Given the description of an element on the screen output the (x, y) to click on. 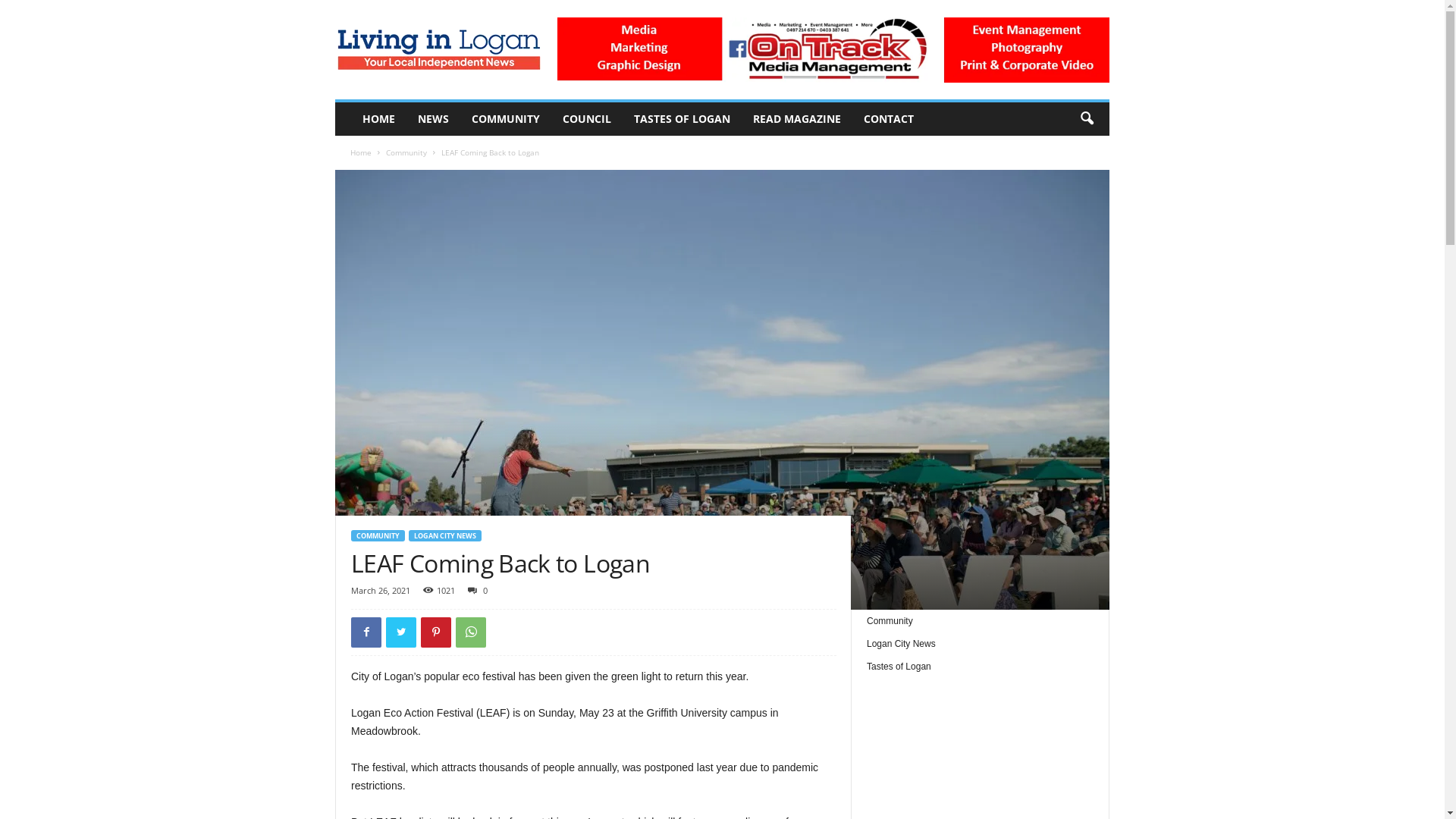
Tastes of Logan Element type: text (898, 666)
LOGAN CITY NEWS Element type: text (444, 535)
Facebook Element type: hover (366, 632)
Pinterest Element type: hover (435, 632)
Home Element type: text (360, 152)
HOME Element type: text (378, 118)
READ MAGAZINE Element type: text (796, 118)
Logan City News & Lifestyle Element type: text (438, 49)
TASTES OF LOGAN Element type: text (681, 118)
Community Element type: text (405, 152)
CONTACT Element type: text (888, 118)
COUNCIL Element type: text (586, 118)
0 Element type: text (474, 590)
WhatsApp Element type: hover (470, 632)
Community Element type: text (889, 620)
Logan City News Element type: hover (438, 49)
COMMUNITY Element type: text (377, 535)
LEAF Element type: hover (722, 389)
Logan City News Element type: text (900, 643)
COMMUNITY Element type: text (505, 118)
NEWS Element type: text (433, 118)
Twitter Element type: hover (400, 632)
